Given the description of an element on the screen output the (x, y) to click on. 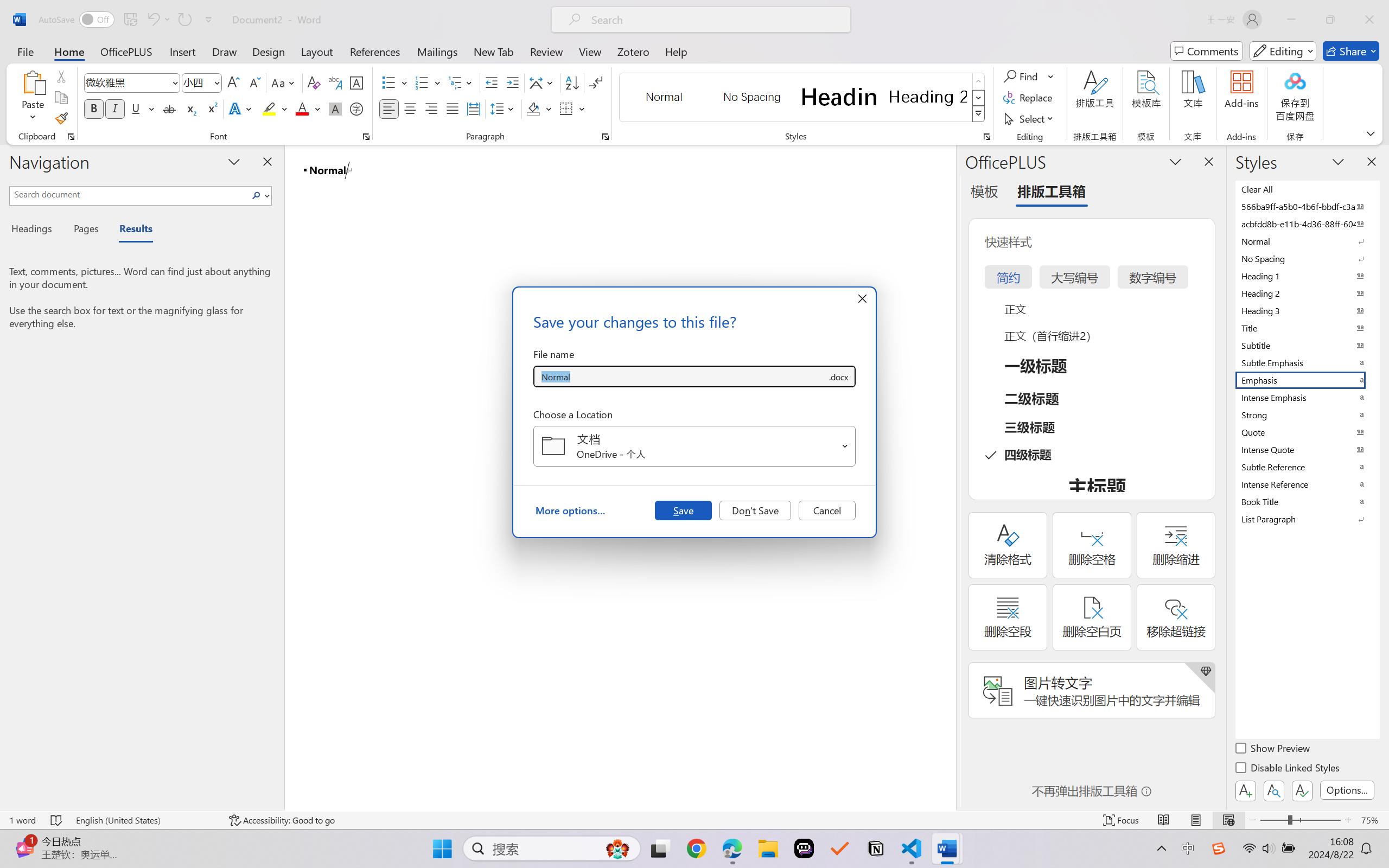
Results (130, 229)
Borders (566, 108)
Strong (1306, 414)
Replace... (1029, 97)
Heading 3 (1306, 310)
Shading RGB(0, 0, 0) (533, 108)
Disable Linked Styles (1287, 769)
Center (409, 108)
Font (126, 82)
Emphasis (1306, 379)
